Given the description of an element on the screen output the (x, y) to click on. 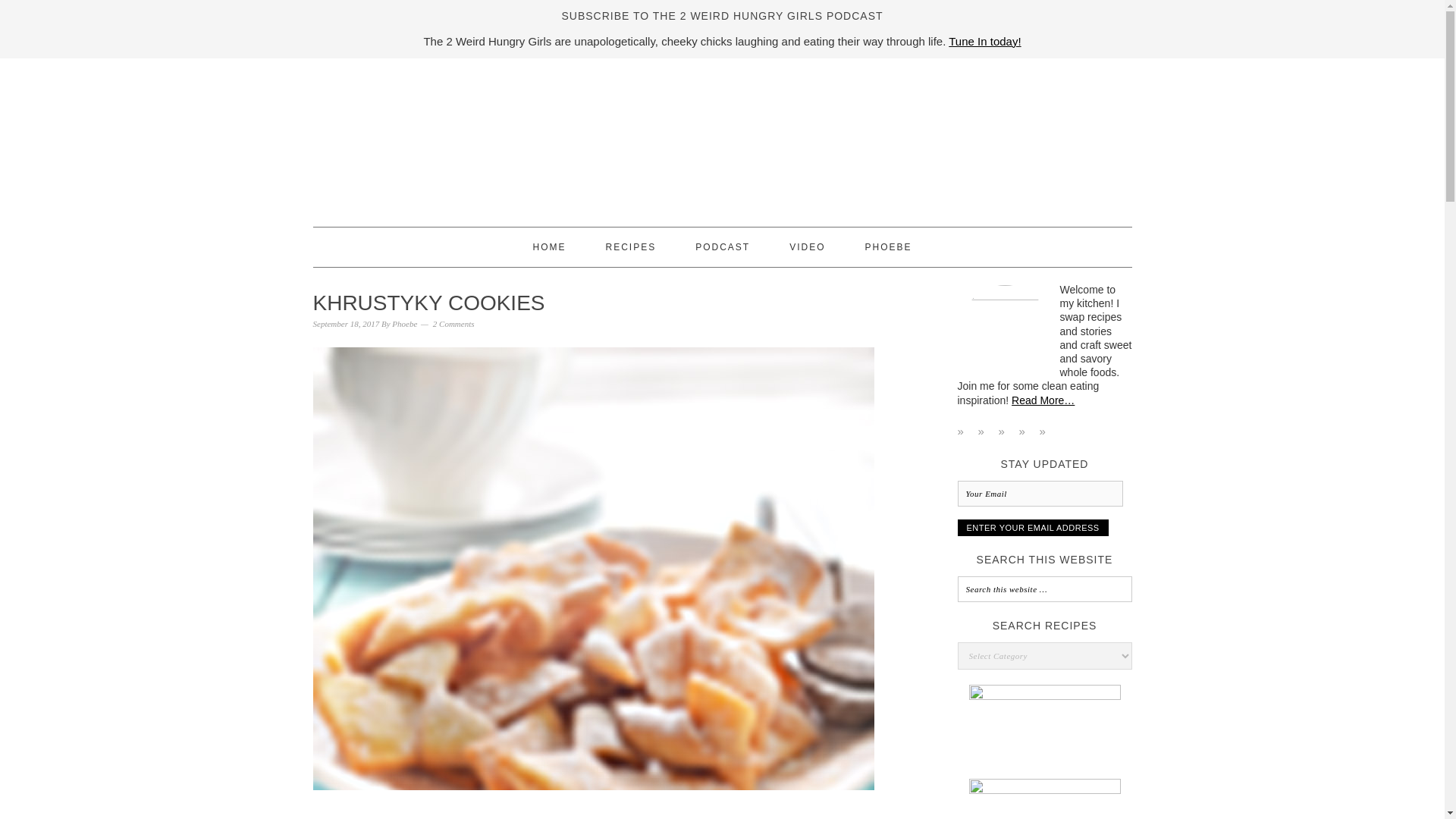
PODCAST (722, 246)
HOME (549, 246)
Tune In today! (984, 41)
enter your email address (1032, 527)
Phoebe (403, 323)
RECIPES (630, 246)
PHOEBE (888, 246)
2 Comments (453, 323)
VIDEO (807, 246)
PHOEBE'S PURE FOOD (722, 135)
